Given the description of an element on the screen output the (x, y) to click on. 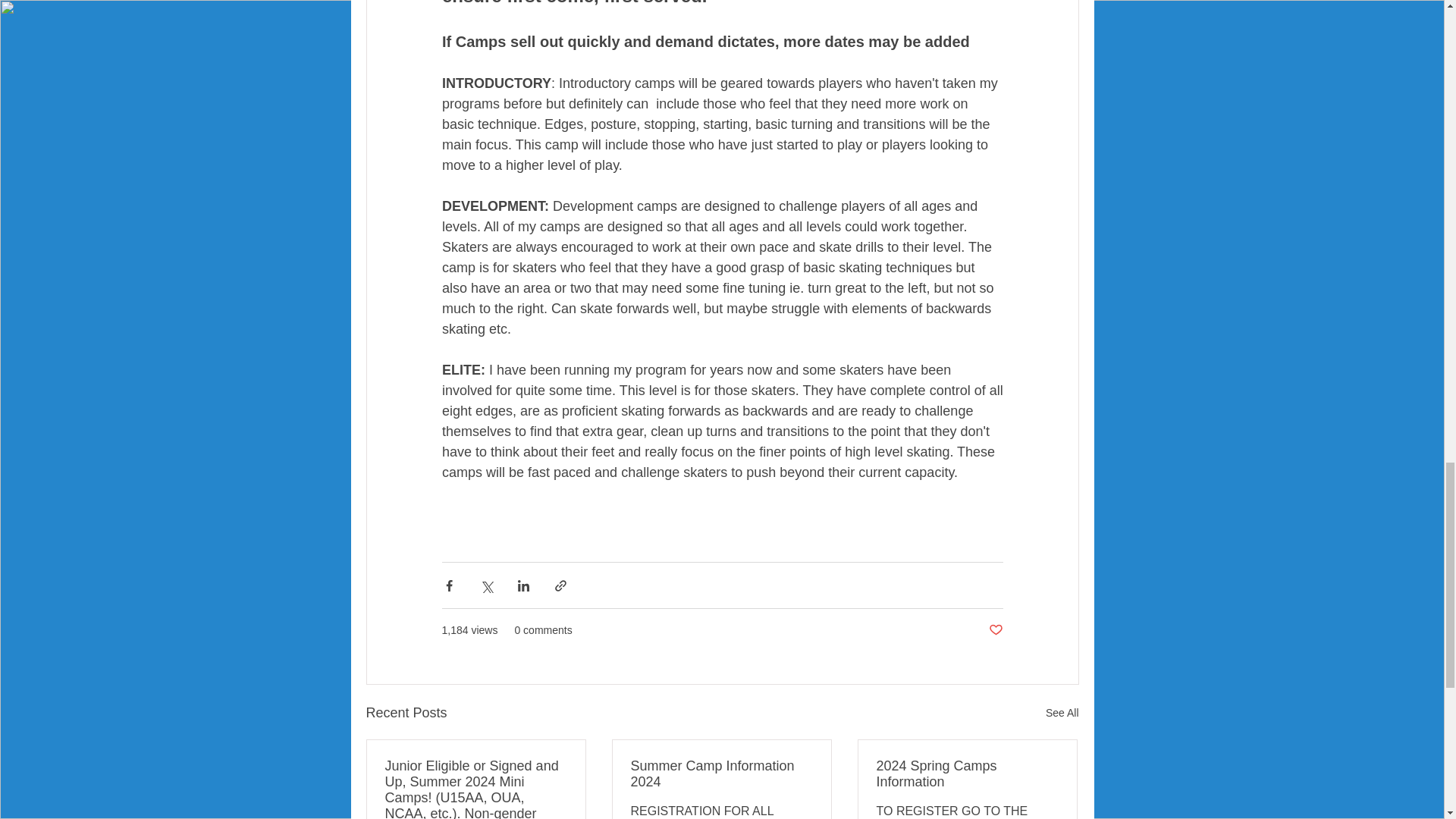
Summer Camp Information 2024 (721, 774)
2024 Spring Camps Information (967, 774)
See All (1061, 712)
Post not marked as liked (995, 630)
